Given the description of an element on the screen output the (x, y) to click on. 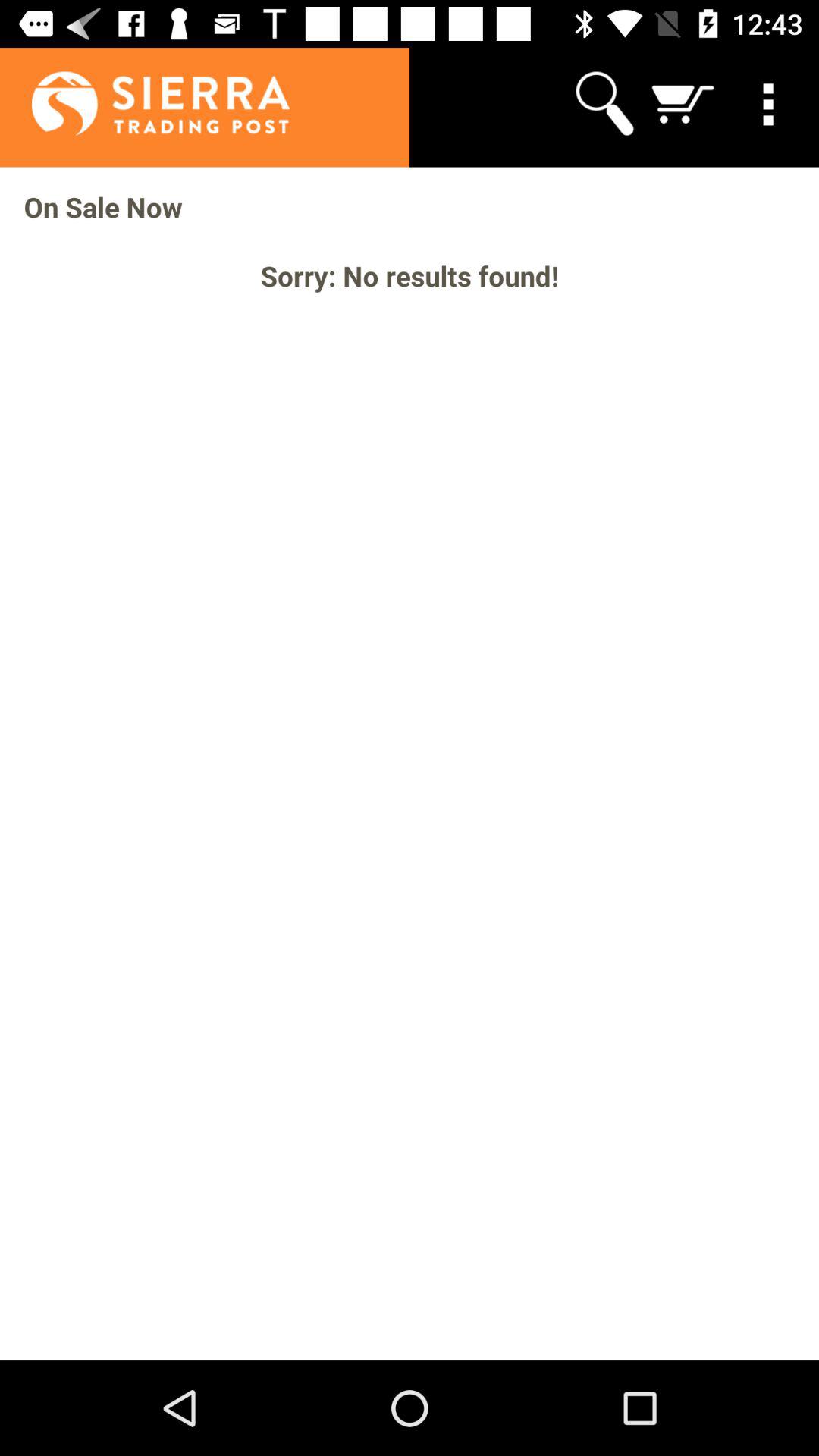
turn on app above on sale now icon (144, 103)
